Given the description of an element on the screen output the (x, y) to click on. 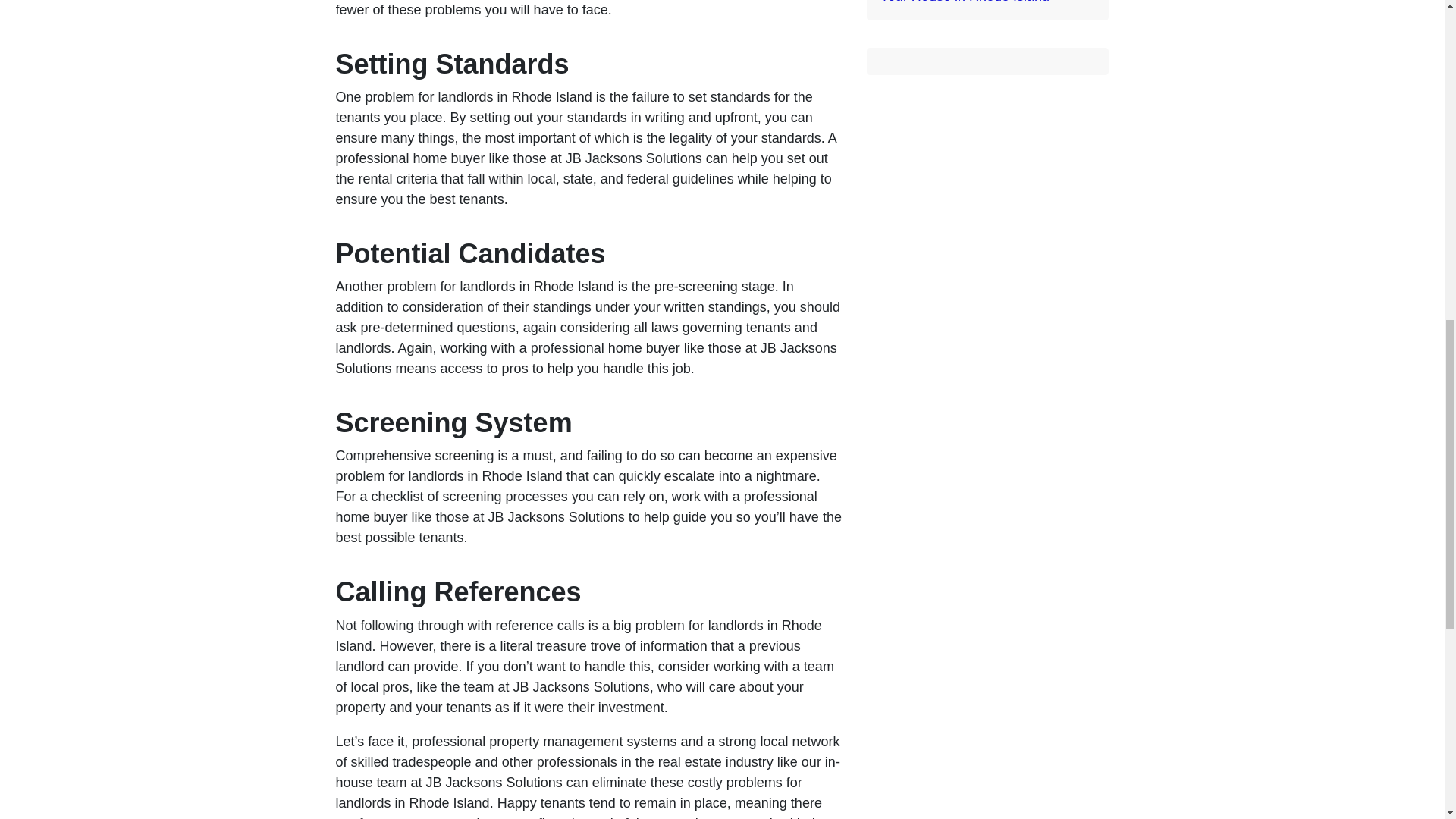
How to Avoid Repairs When Selling Your House in Rhode Island (986, 2)
